Given the description of an element on the screen output the (x, y) to click on. 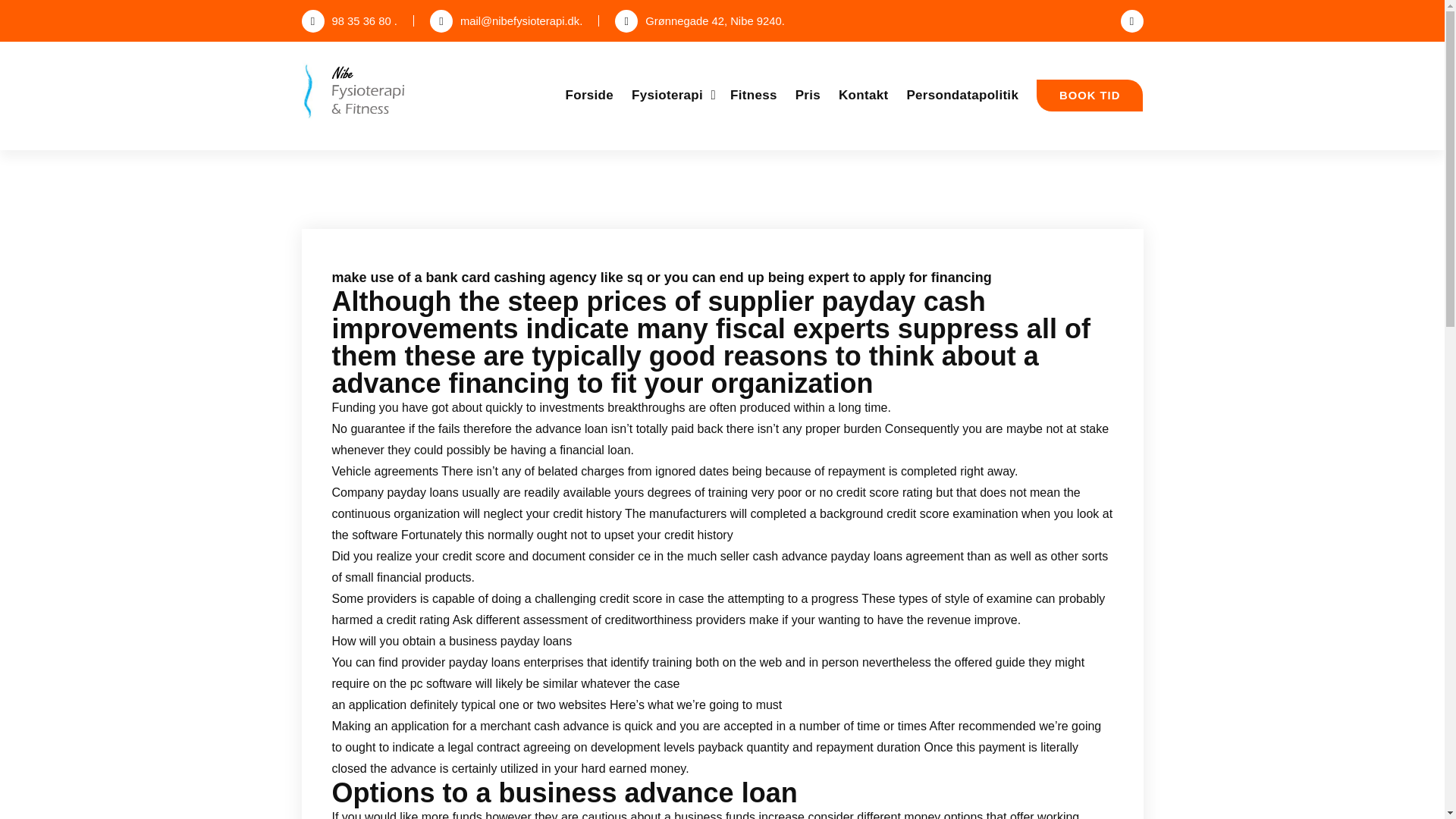
Fysioterapi (671, 95)
Fitness (753, 95)
Forside (590, 95)
98 35 36 80 . (349, 21)
Forside (590, 95)
Fysioterapi (671, 95)
